Given the description of an element on the screen output the (x, y) to click on. 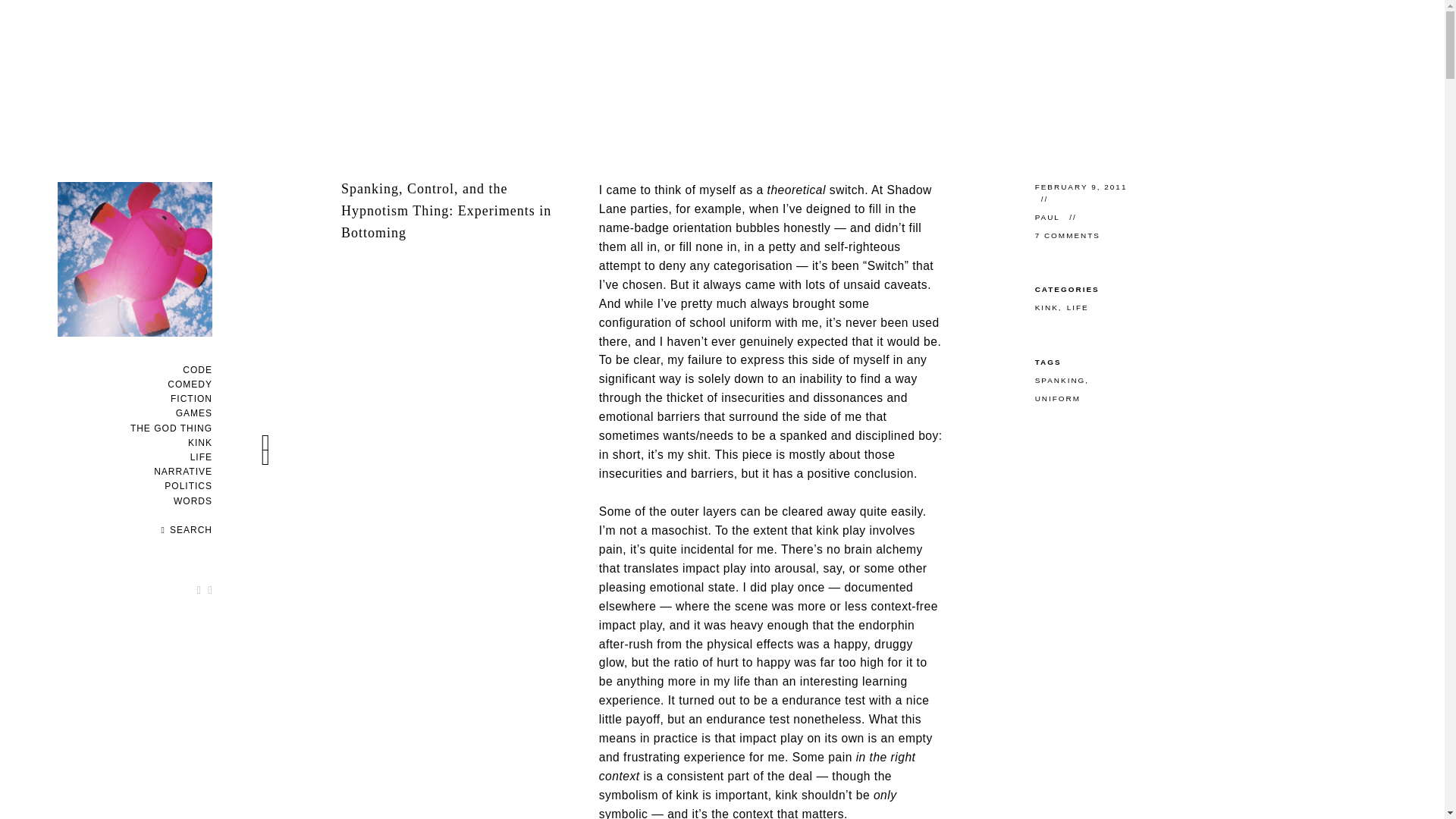
SEARCH (186, 529)
7 COMMENTS (1067, 234)
FICTION (191, 398)
SPANKING (1060, 379)
POLITICS (188, 485)
WORDS (192, 501)
LIFE (1078, 307)
KINK (1046, 307)
NARRATIVE (183, 471)
FEBRUARY 9, 2011 (1080, 186)
